Given the description of an element on the screen output the (x, y) to click on. 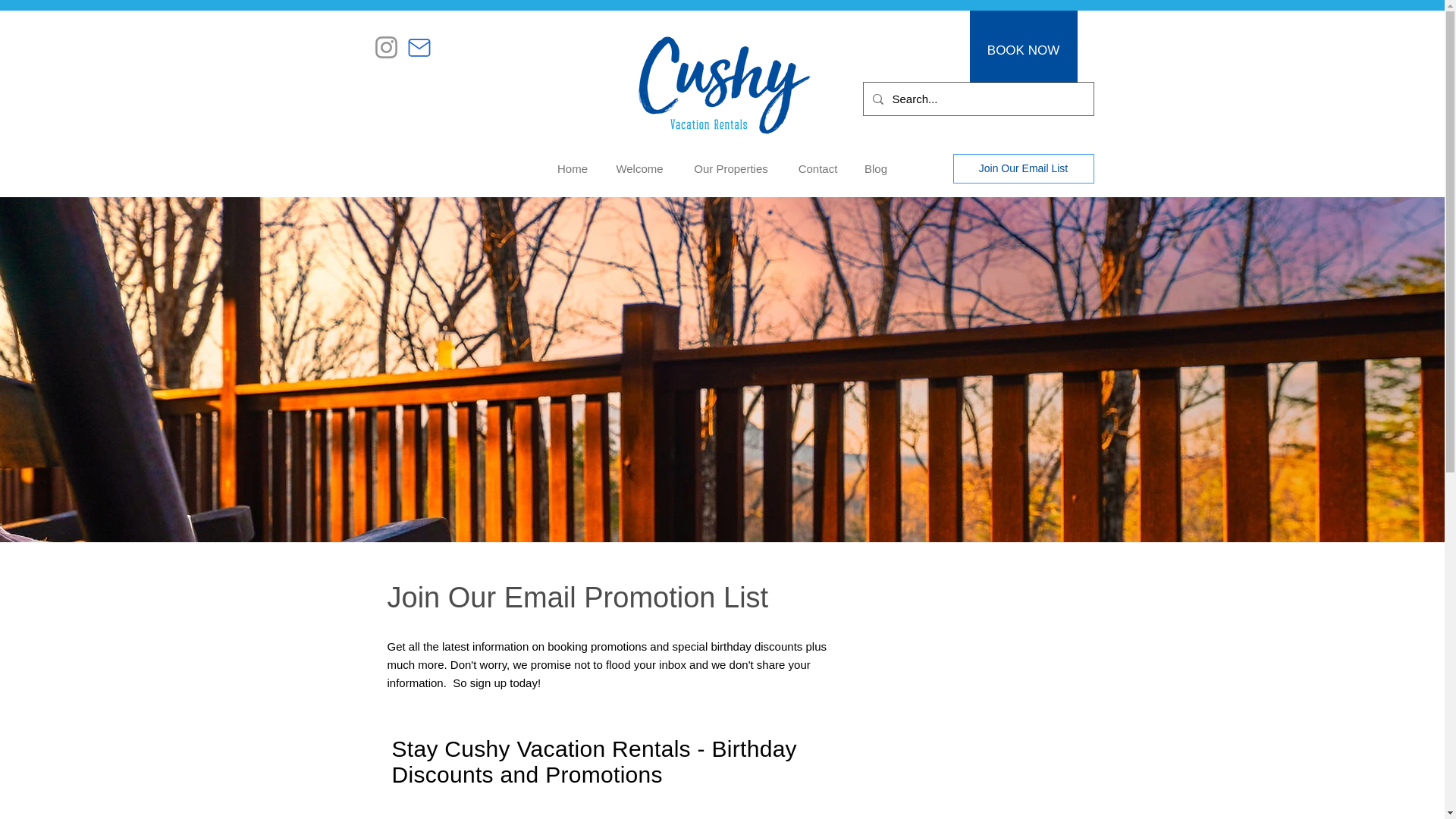
Welcome (639, 168)
Home (572, 168)
Our Properties (731, 168)
BOOK NOW (1023, 50)
Contact (817, 168)
Join Our Email List (1022, 168)
Blog (875, 168)
